Given the description of an element on the screen output the (x, y) to click on. 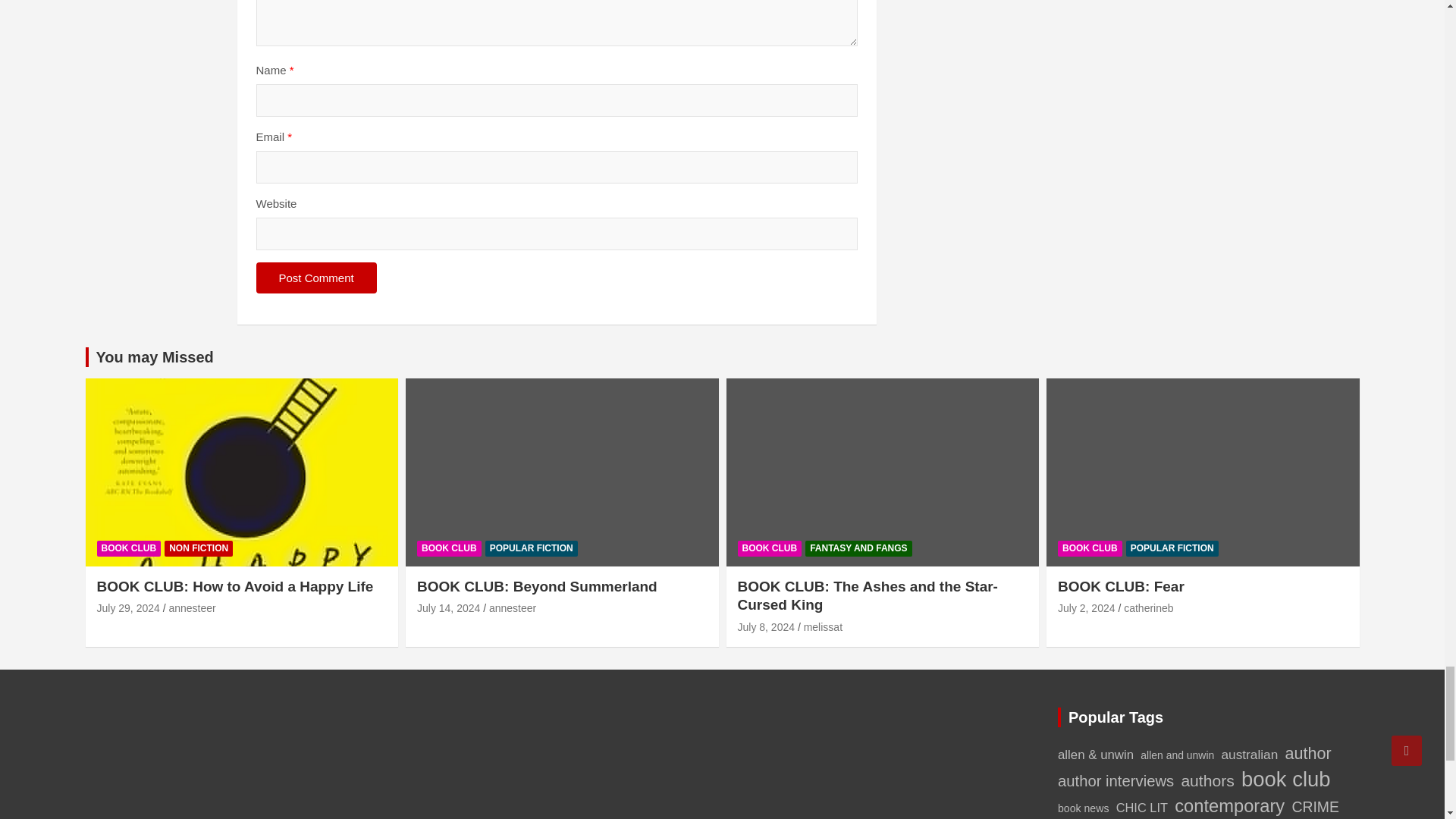
BOOK CLUB: How to Avoid a Happy Life (128, 607)
BOOK CLUB: Beyond Summerland (448, 607)
BOOK CLUB: Fear (1086, 607)
Post Comment (316, 277)
